Given the description of an element on the screen output the (x, y) to click on. 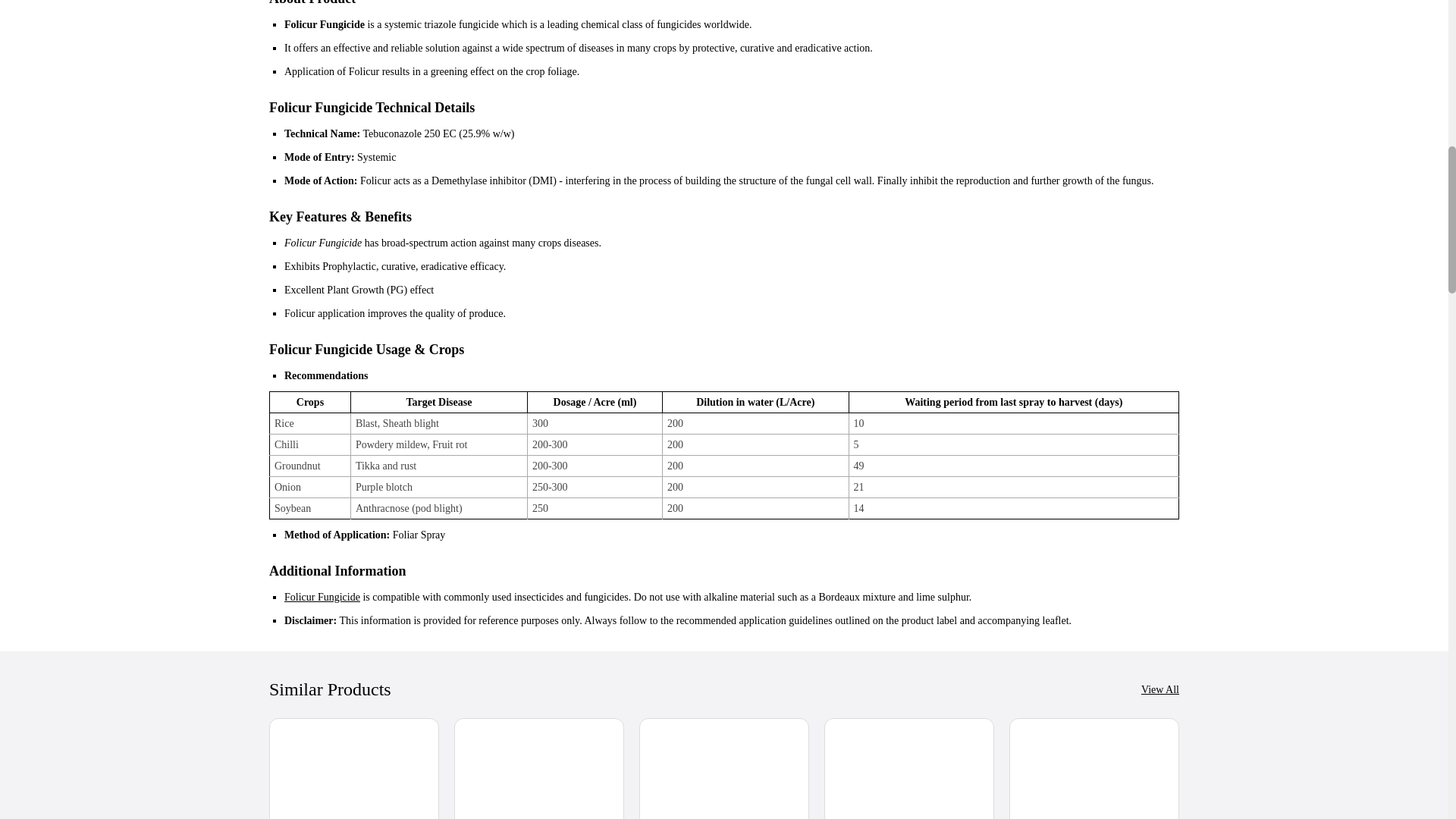
View All (1160, 688)
